Given the description of an element on the screen output the (x, y) to click on. 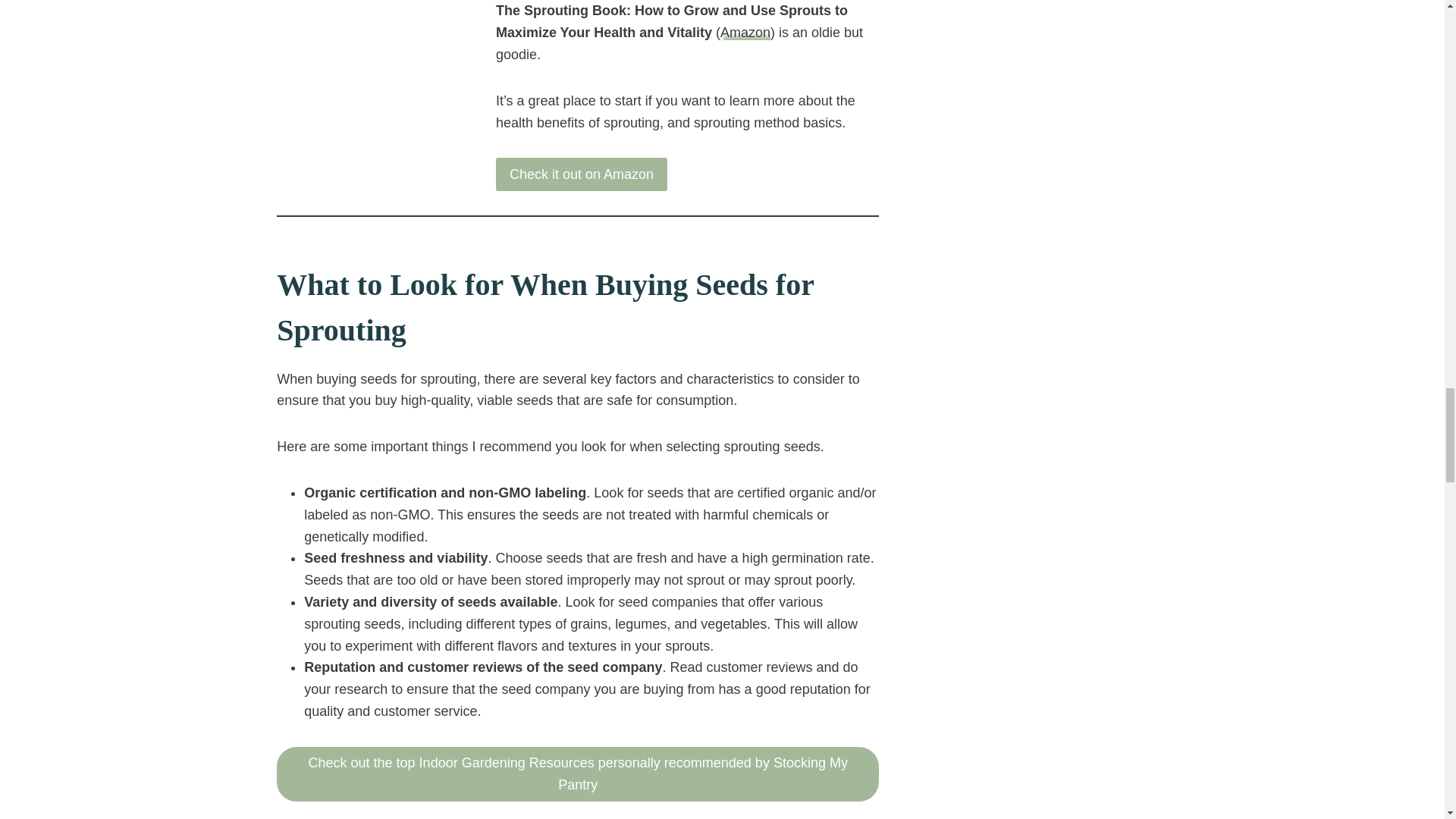
Amazon (745, 32)
Check it out on Amazon (581, 174)
